Given the description of an element on the screen output the (x, y) to click on. 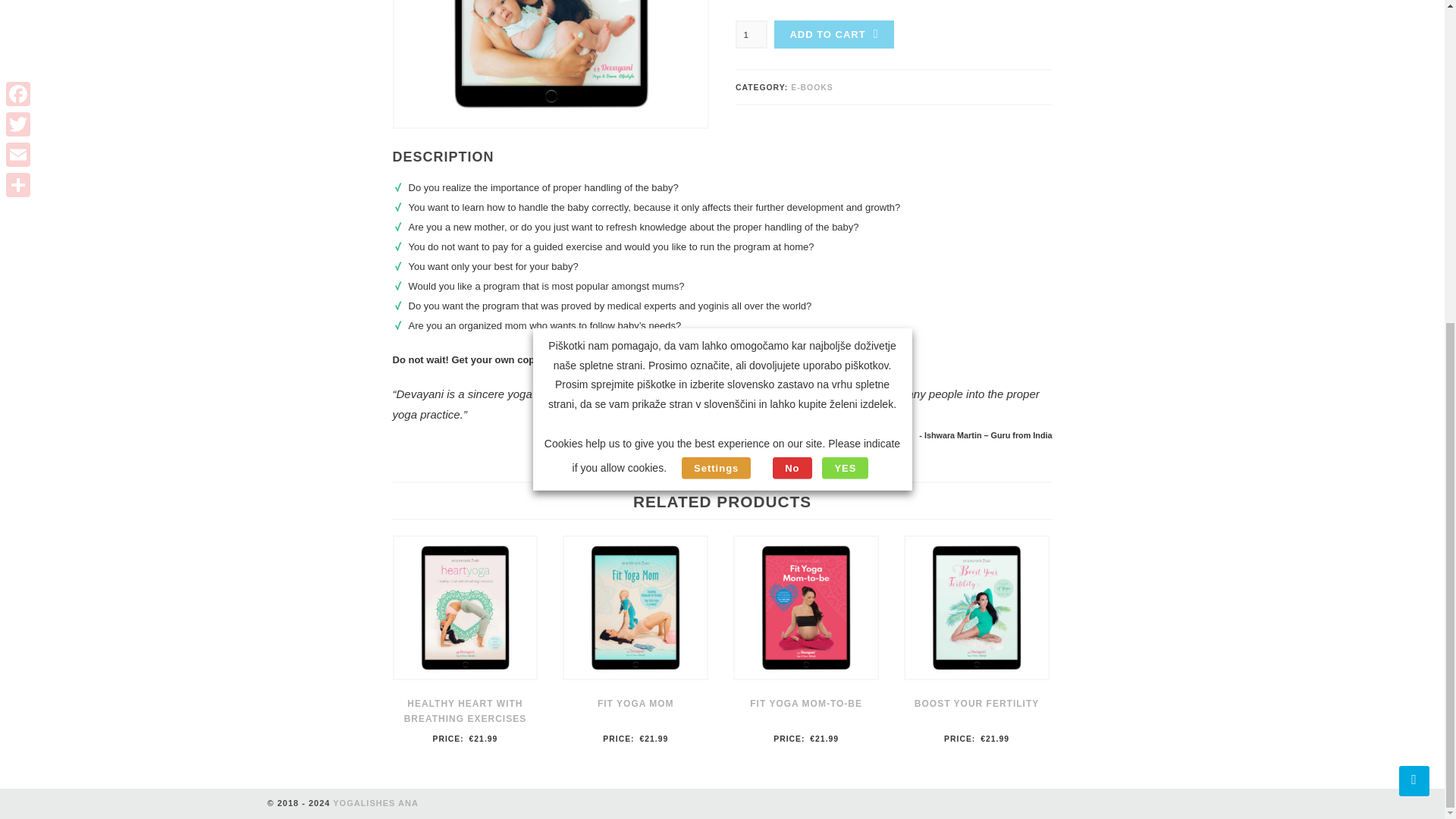
ADD TO CART (833, 34)
E-BOOKS (811, 87)
1 (751, 34)
Yogalishes Ana (376, 802)
